Given the description of an element on the screen output the (x, y) to click on. 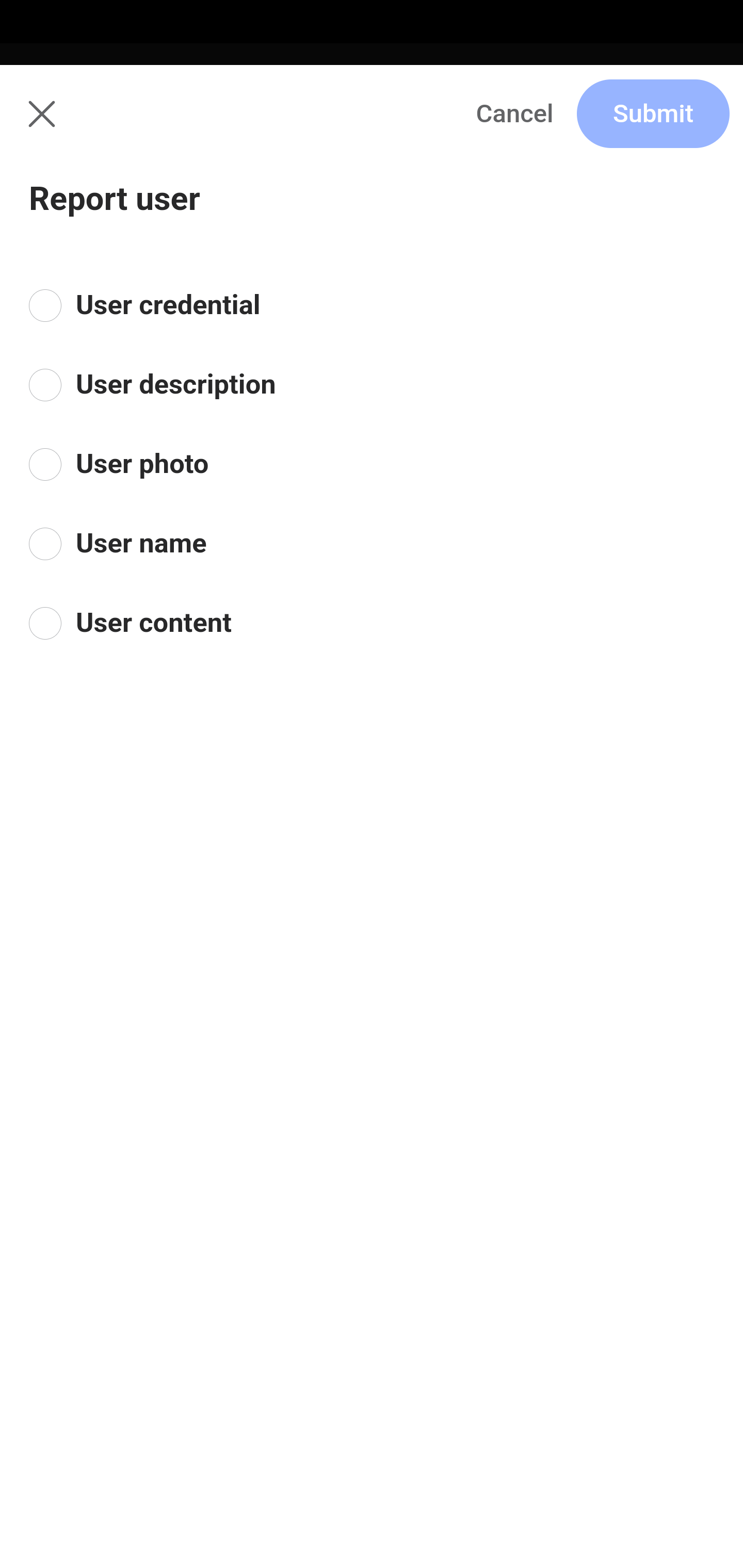
 (39, 112)
